Given the description of an element on the screen output the (x, y) to click on. 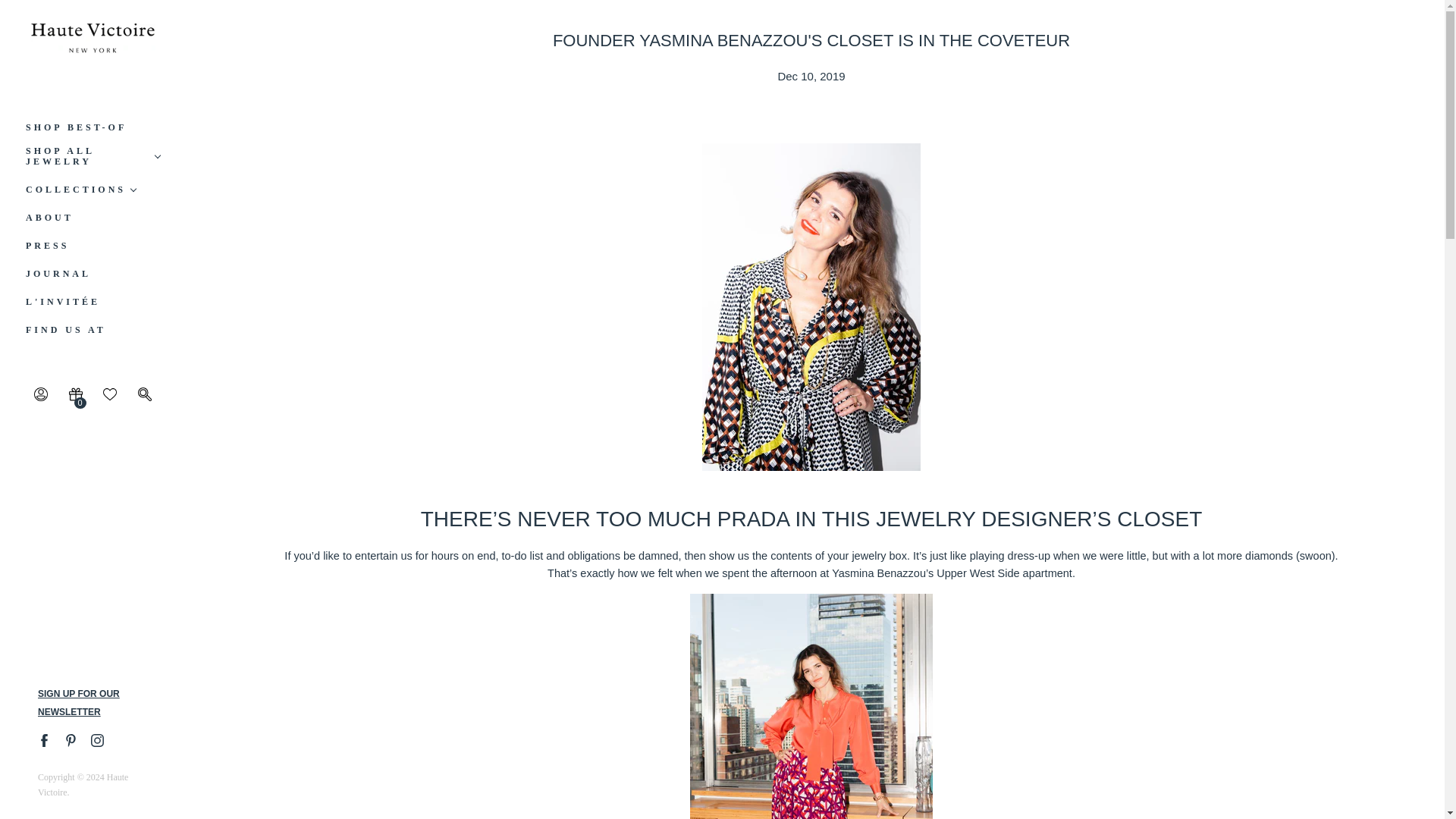
COLLECTIONS (80, 189)
0 (75, 397)
Instagram (95, 739)
SHOP BEST-OF (76, 127)
JOURNAL (58, 273)
Facebook (43, 739)
FIND US AT (66, 329)
Pinterest (69, 739)
PRESS (47, 245)
SHOP ALL JEWELRY (93, 156)
ABOUT (50, 217)
SIGN UP FOR OUR NEWSLETTER (78, 702)
